Given the description of an element on the screen output the (x, y) to click on. 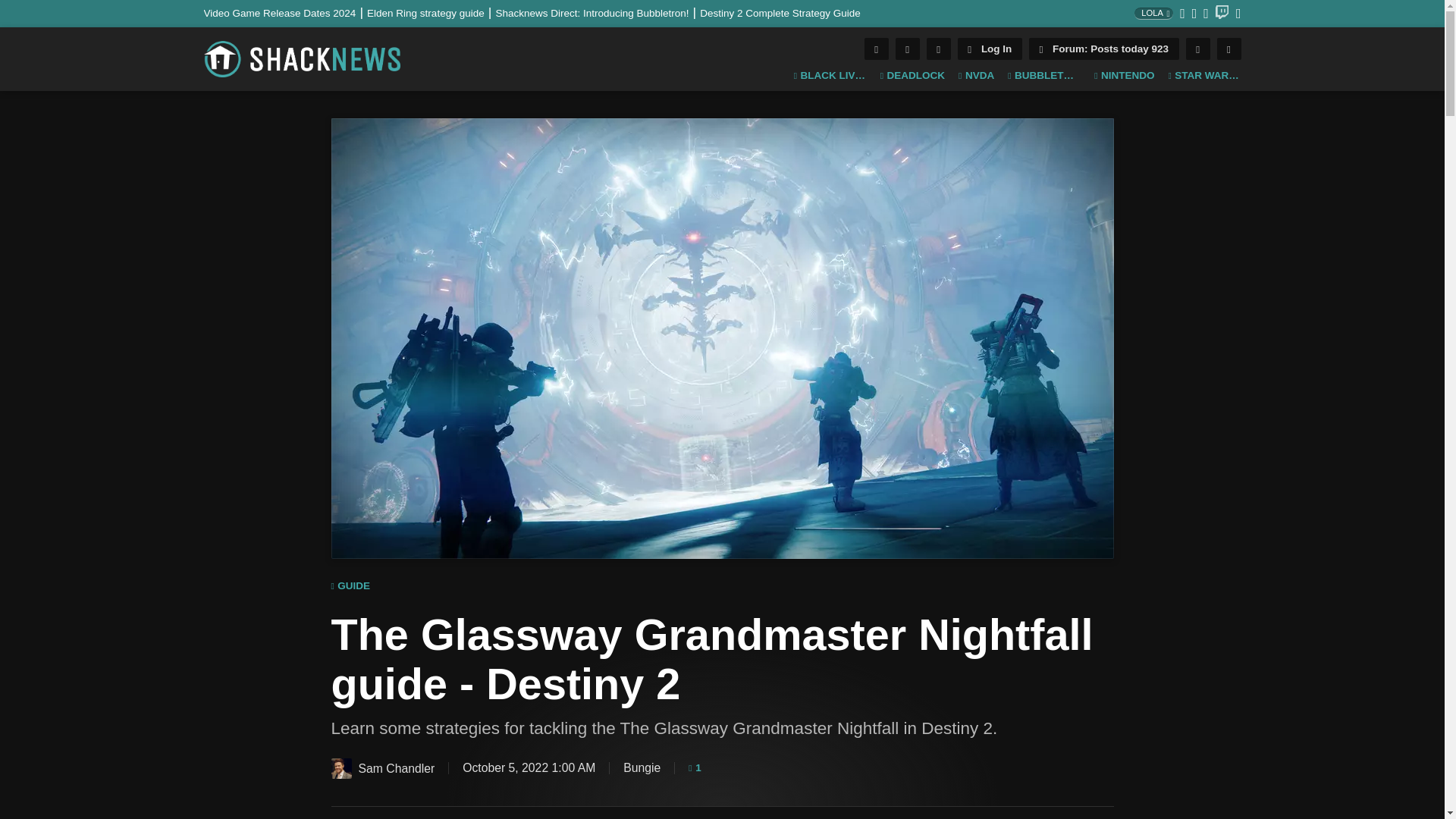
STAR WARS OUTLAWS (1203, 75)
BLACK LIVES MATTER (829, 75)
Elden Ring strategy guide (430, 11)
Sam Chandler (340, 768)
Destiny 2 Complete Strategy Guide (780, 11)
GUIDE (349, 586)
DEADLOCK (912, 75)
Shacknews Direct: Introducing Bubbletron! (597, 11)
NVDA (976, 75)
